Given the description of an element on the screen output the (x, y) to click on. 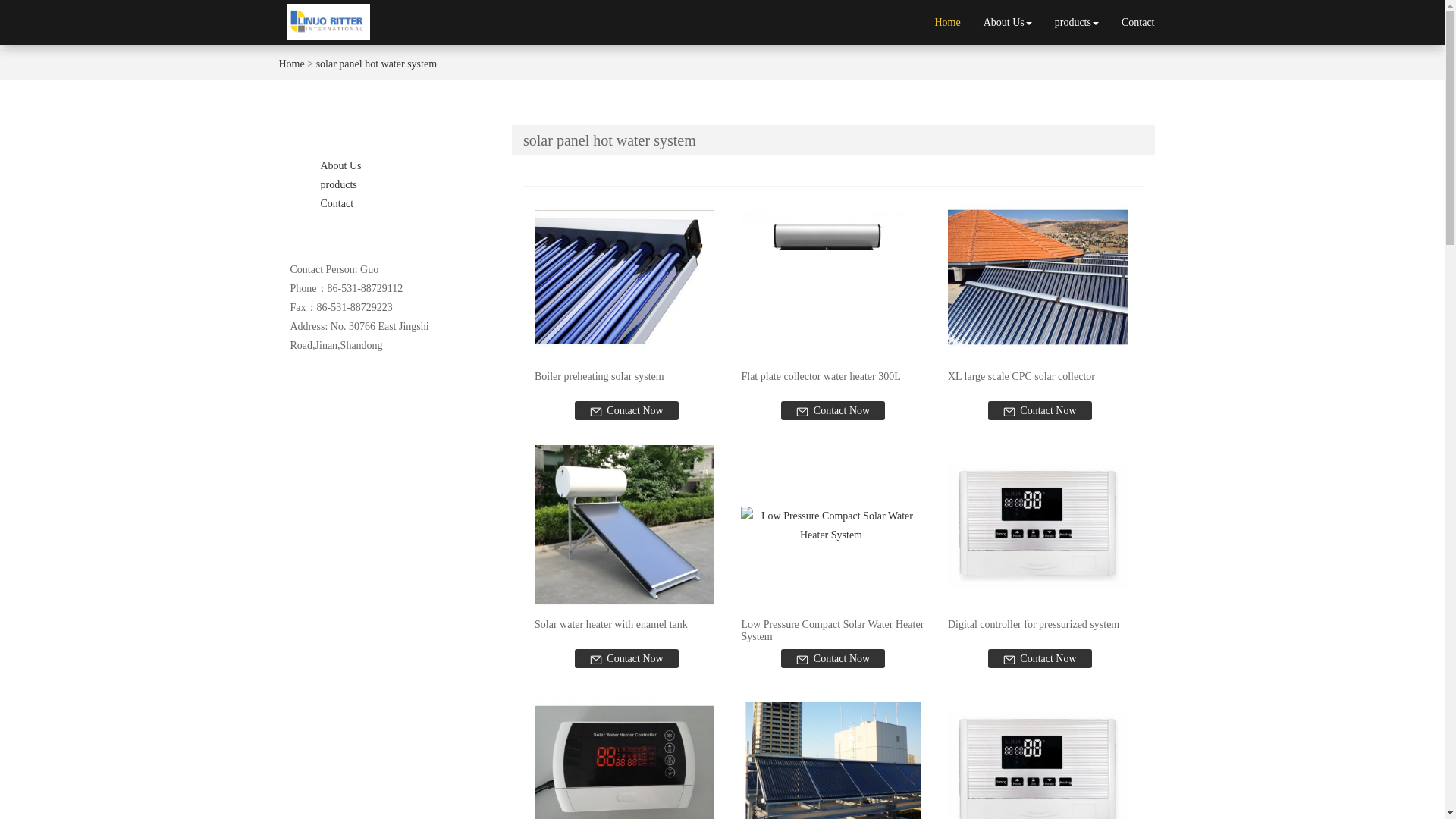
products (1076, 22)
Home (291, 63)
Contact (1137, 22)
solar panel hot water system (375, 63)
Home (947, 22)
About Us (1007, 22)
